Given the description of an element on the screen output the (x, y) to click on. 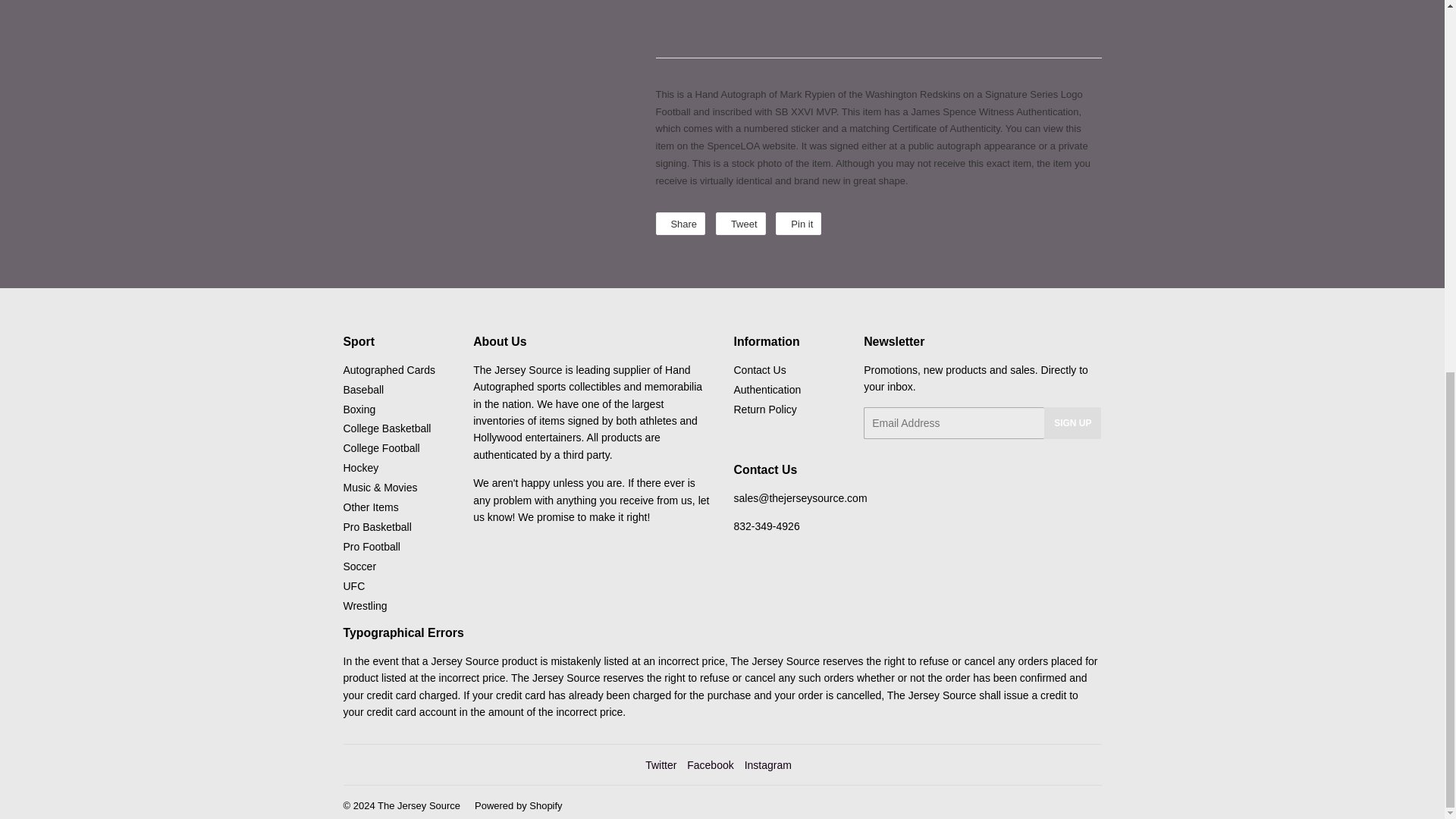
Tweet on Twitter (740, 223)
Share on Facebook (679, 223)
Pin on Pinterest (798, 223)
The Jersey Source on Twitter (661, 765)
The Jersey Source on Facebook (710, 765)
The Jersey Source on Instagram (768, 765)
